Given the description of an element on the screen output the (x, y) to click on. 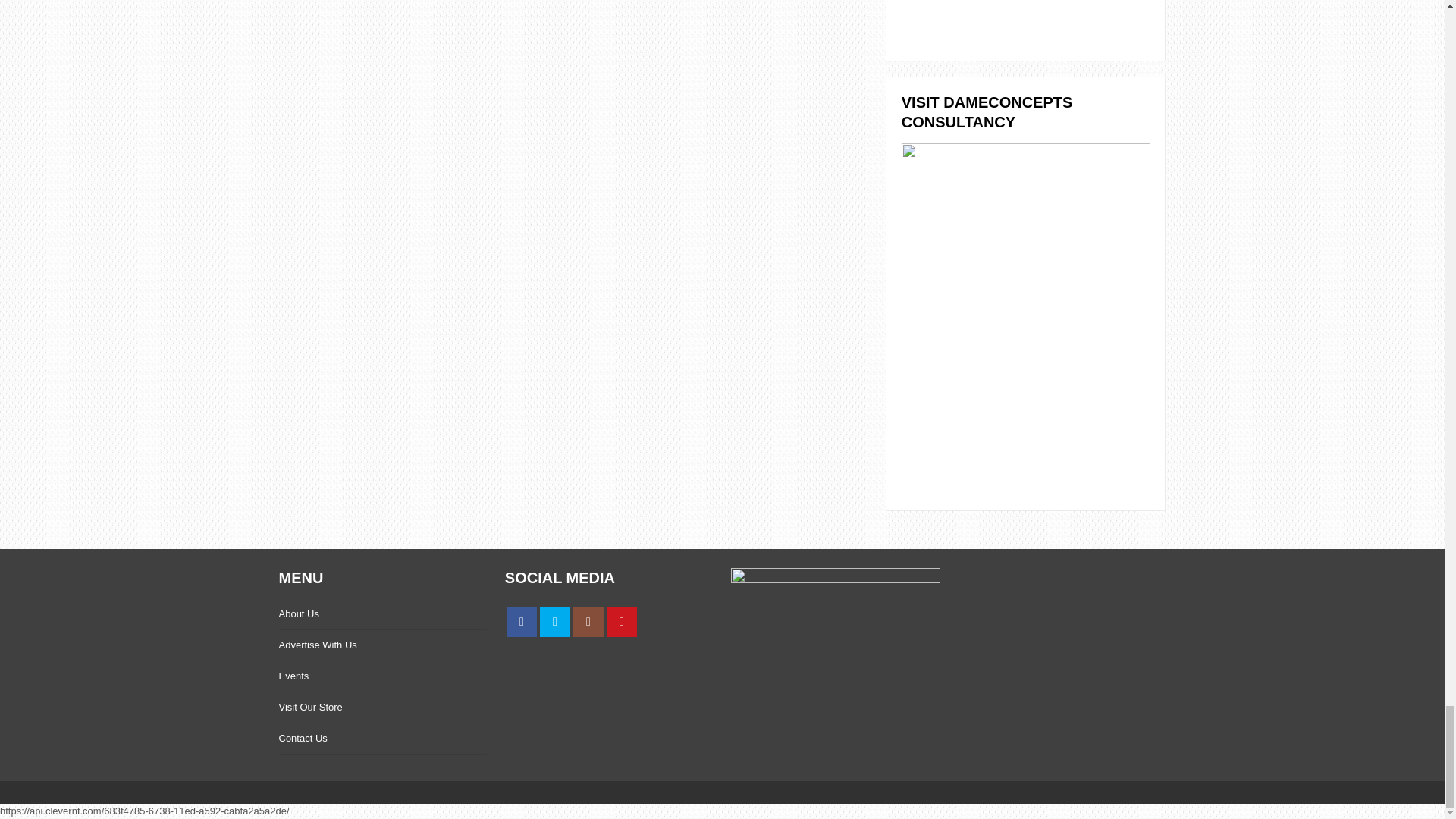
Advertise With Us (317, 644)
About Us (298, 613)
Events (293, 675)
